Given the description of an element on the screen output the (x, y) to click on. 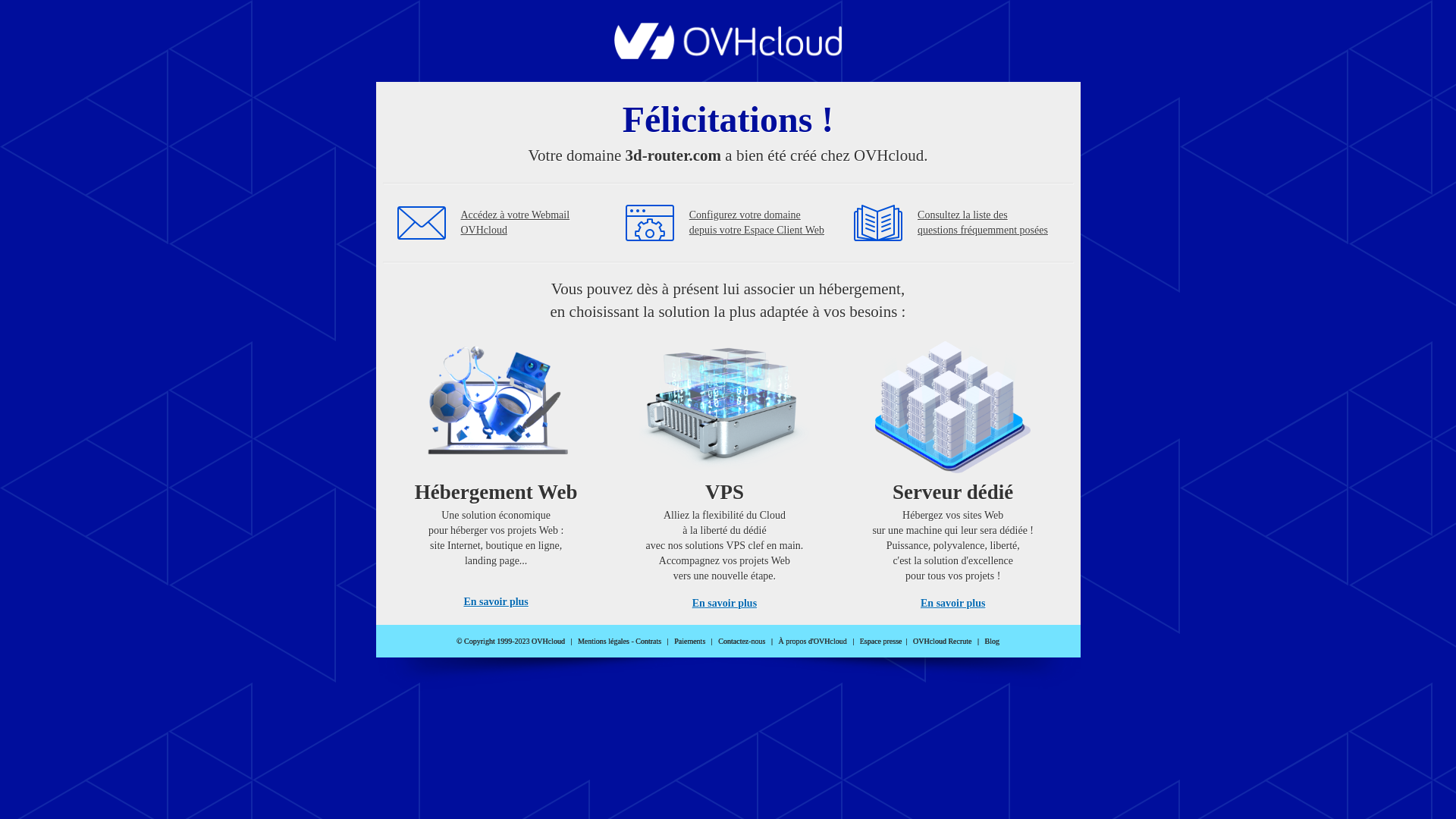
VPS Element type: hover (724, 469)
En savoir plus Element type: text (952, 602)
Espace presse Element type: text (880, 641)
En savoir plus Element type: text (724, 602)
OVHcloud Recrute Element type: text (942, 641)
En savoir plus Element type: text (495, 601)
Contactez-nous Element type: text (741, 641)
Configurez votre domaine
depuis votre Espace Client Web Element type: text (756, 222)
Blog Element type: text (992, 641)
OVHcloud Element type: hover (727, 54)
Paiements Element type: text (689, 641)
